Given the description of an element on the screen output the (x, y) to click on. 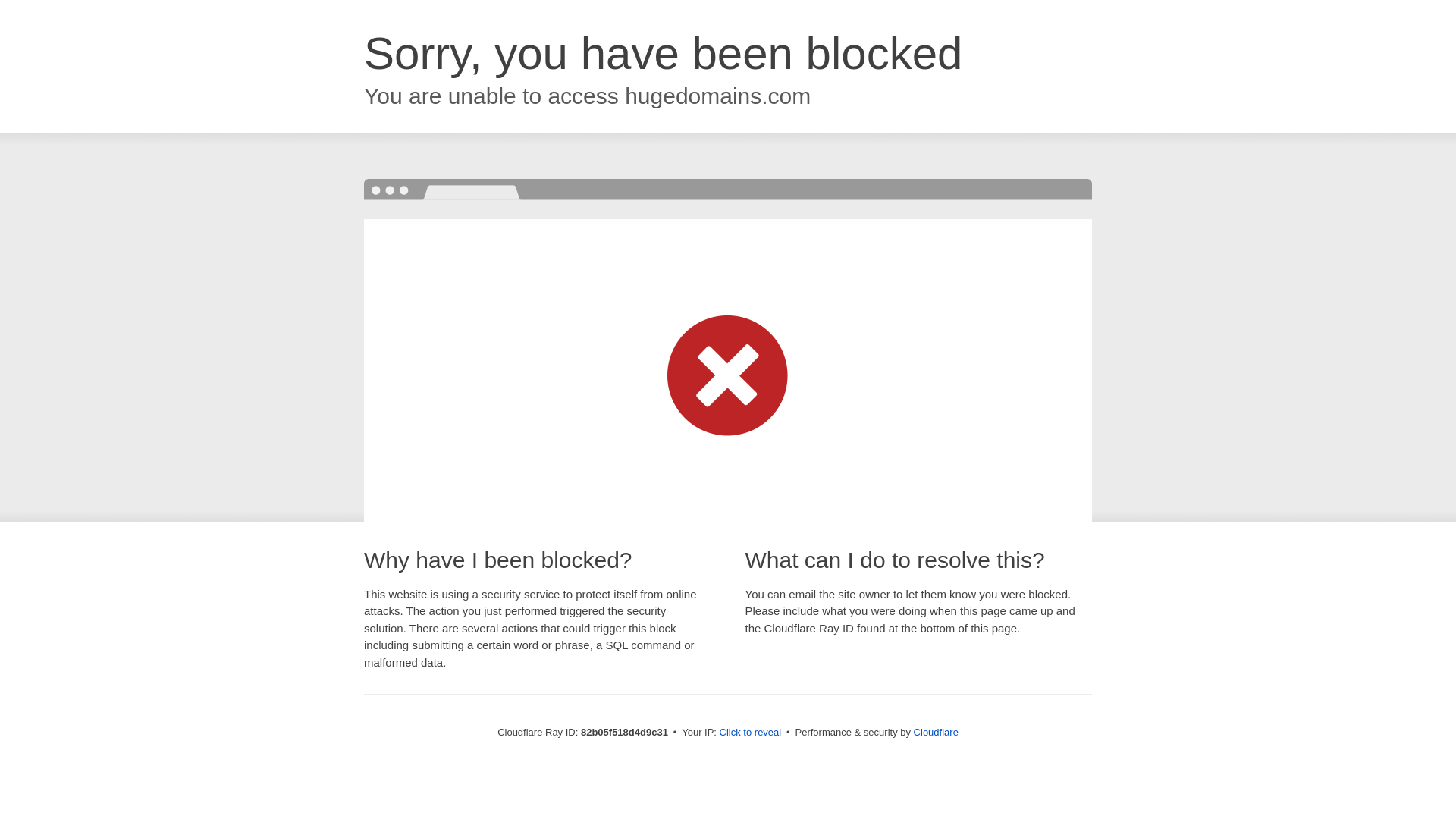
Cloudflare Element type: text (935, 731)
Click to reveal Element type: text (750, 732)
